Given the description of an element on the screen output the (x, y) to click on. 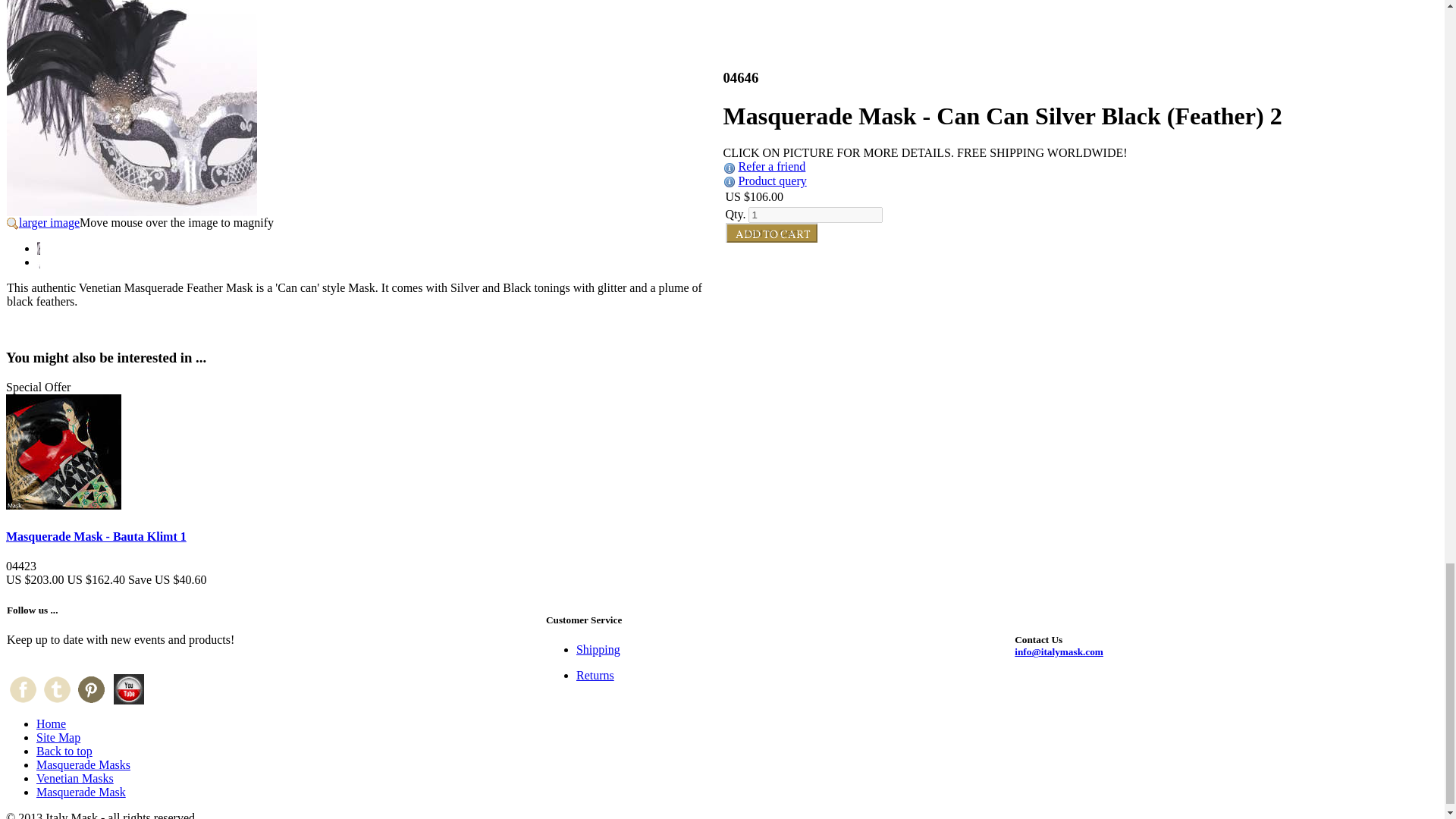
1 (815, 214)
Facebook (23, 689)
Add To Cart (770, 232)
Pinterest (91, 689)
ItalyMask YouTube Channel (128, 689)
Twitter (56, 689)
